Given the description of an element on the screen output the (x, y) to click on. 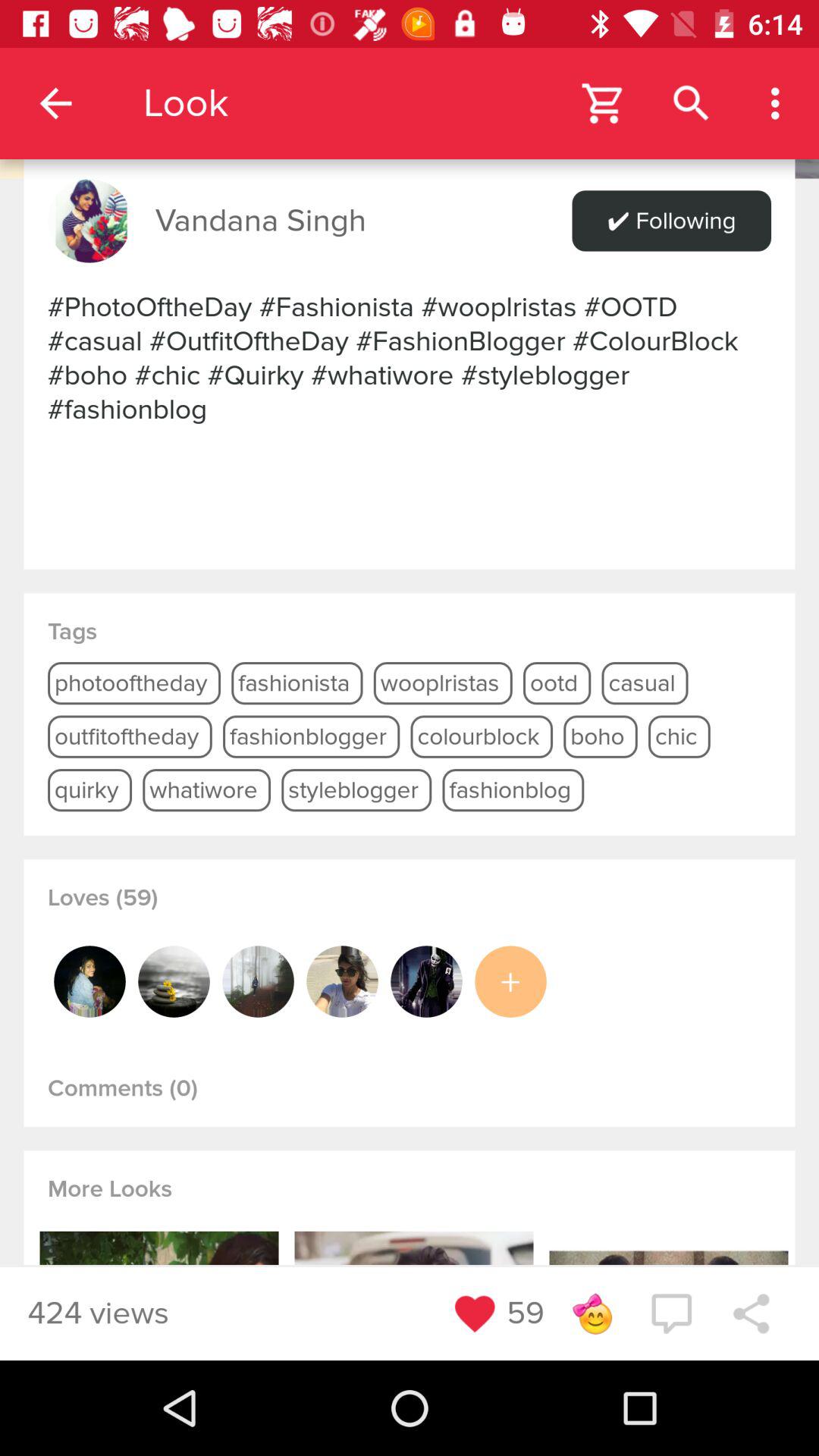
open chat box (671, 1313)
